Given the description of an element on the screen output the (x, y) to click on. 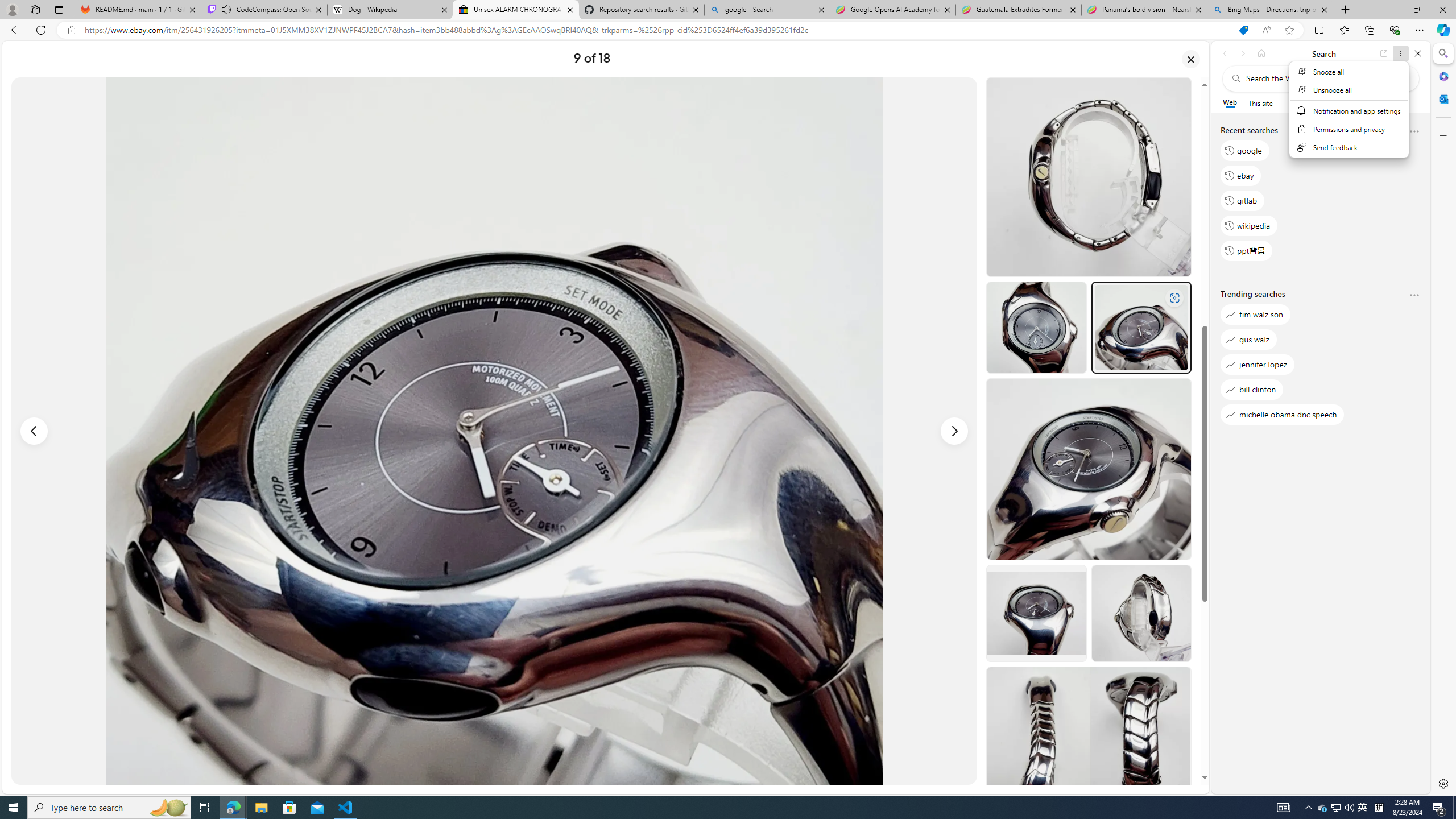
tim walz son (1255, 314)
Open link in new tab (1383, 53)
jennifer lopez (1257, 364)
Context (1349, 109)
Previous image - Item images thumbnails (34, 430)
Forward (1242, 53)
Unsnooze all (1349, 90)
